Given the description of an element on the screen output the (x, y) to click on. 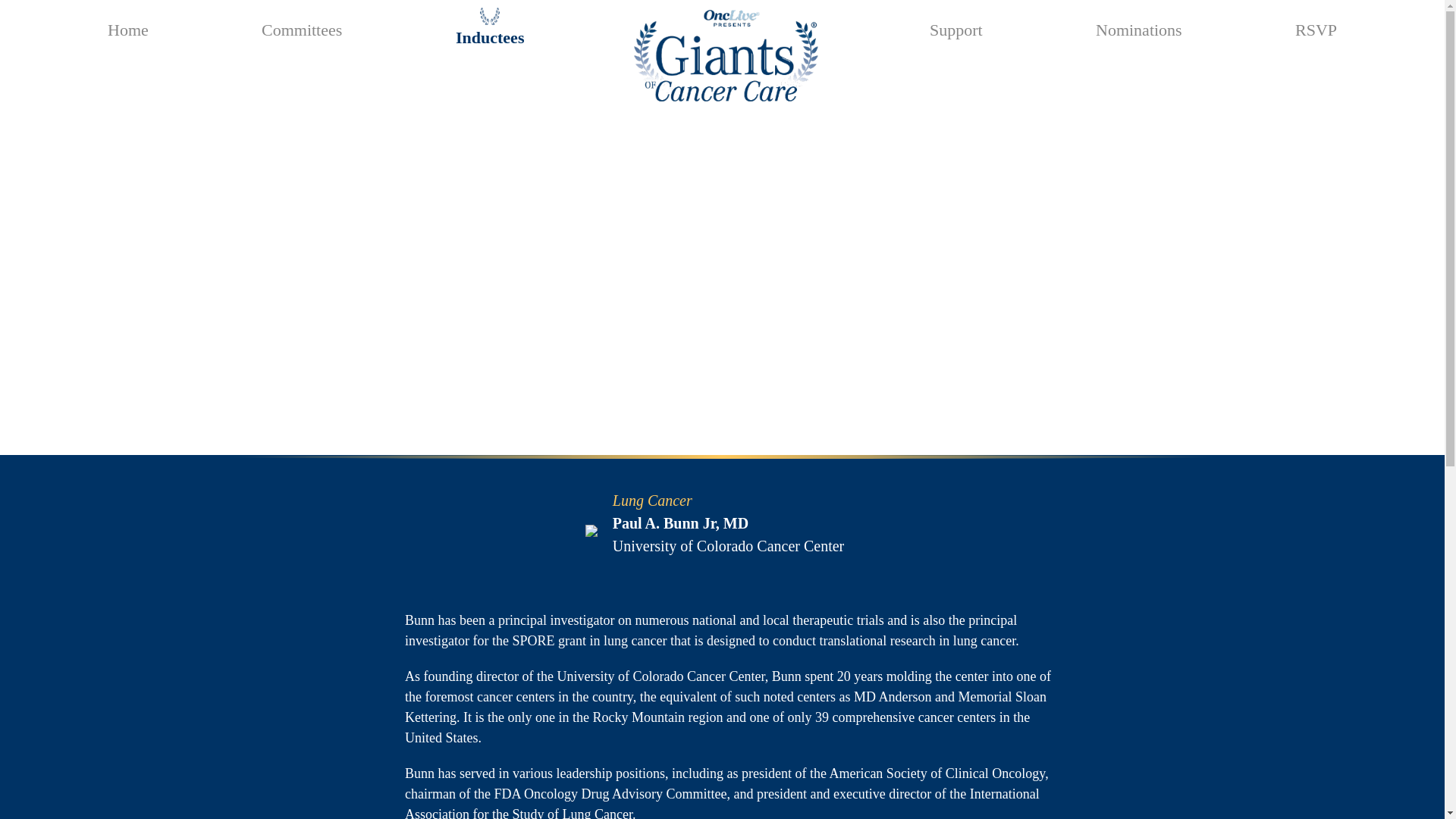
Inductees (489, 35)
Support (956, 27)
Nominations (1139, 27)
RSVP (1315, 27)
Committees (301, 27)
Home (127, 27)
